Given the description of an element on the screen output the (x, y) to click on. 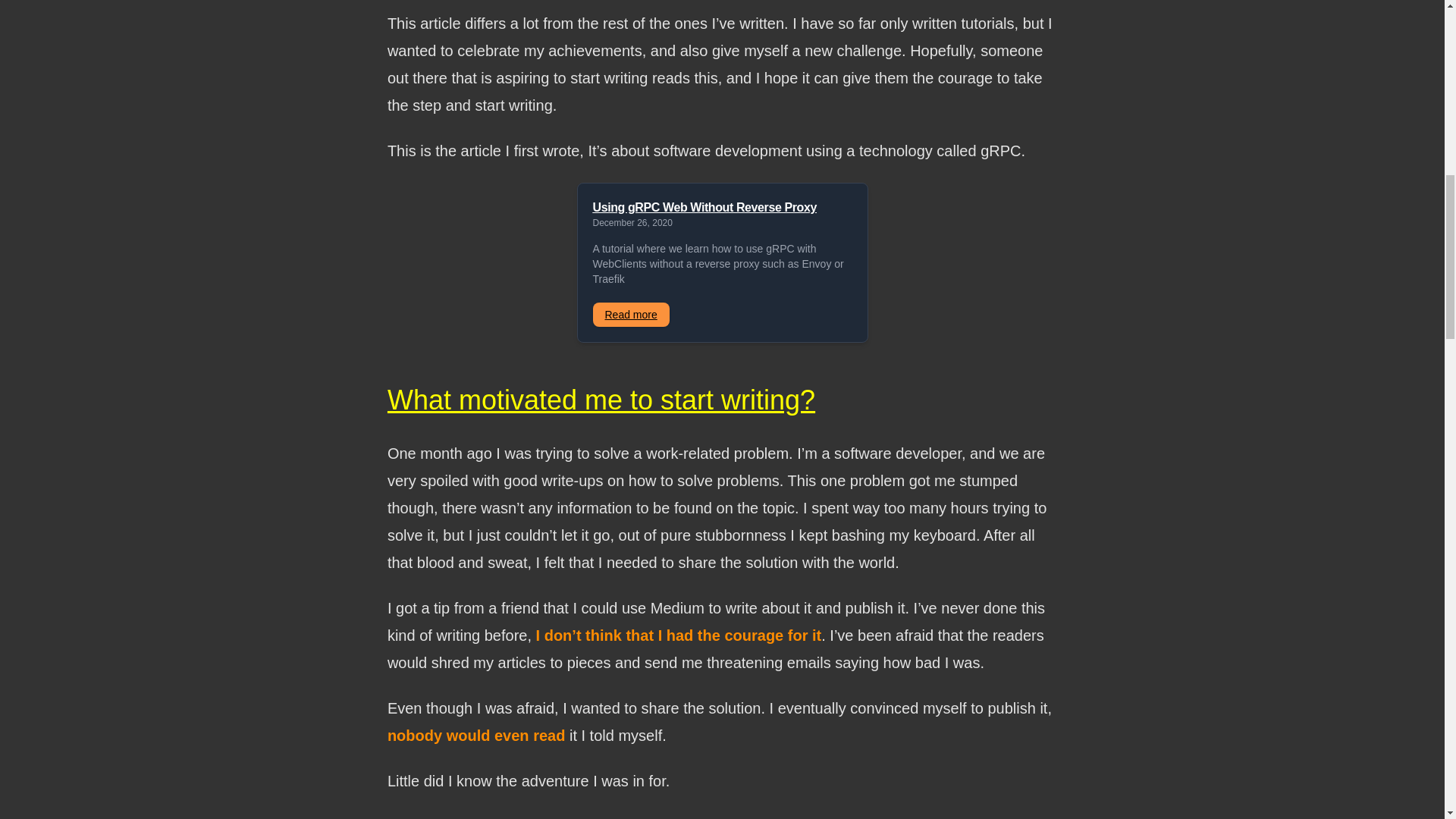
Using gRPC Web Without Reverse Proxy (721, 208)
Read more (630, 314)
What motivated me to start writing? (601, 399)
